Given the description of an element on the screen output the (x, y) to click on. 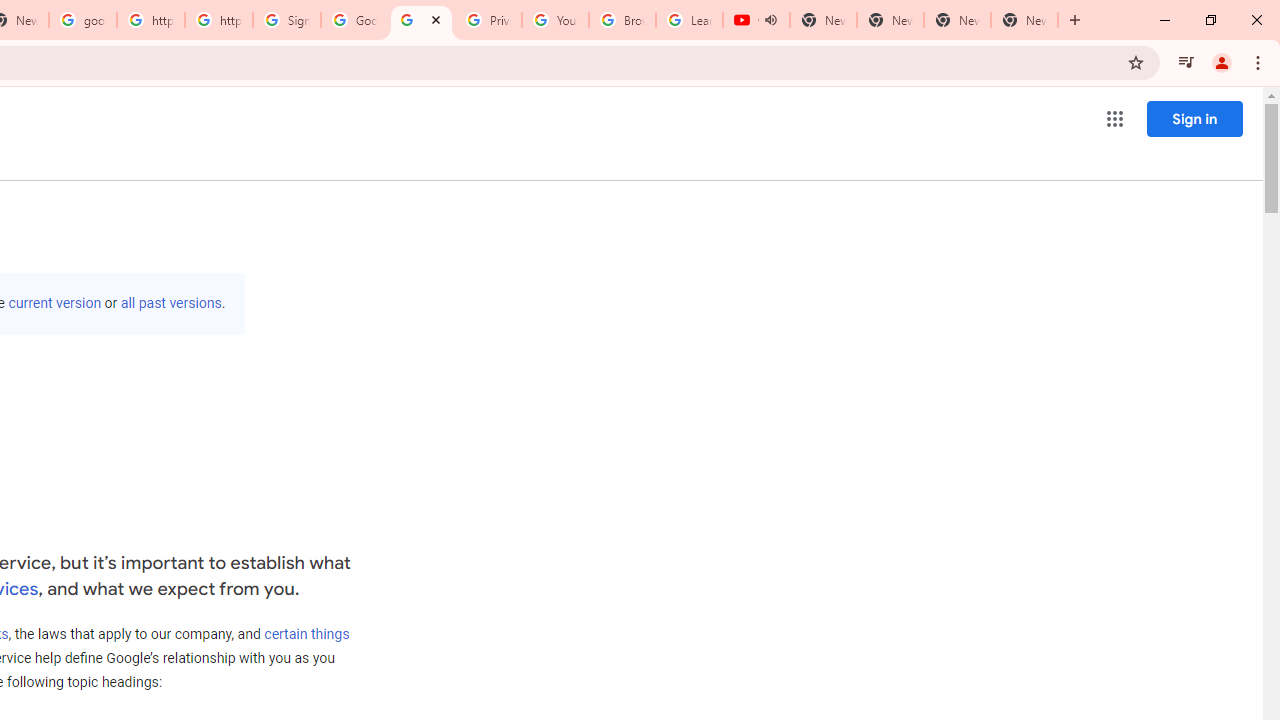
all past versions (170, 303)
https://scholar.google.com/ (219, 20)
